Given the description of an element on the screen output the (x, y) to click on. 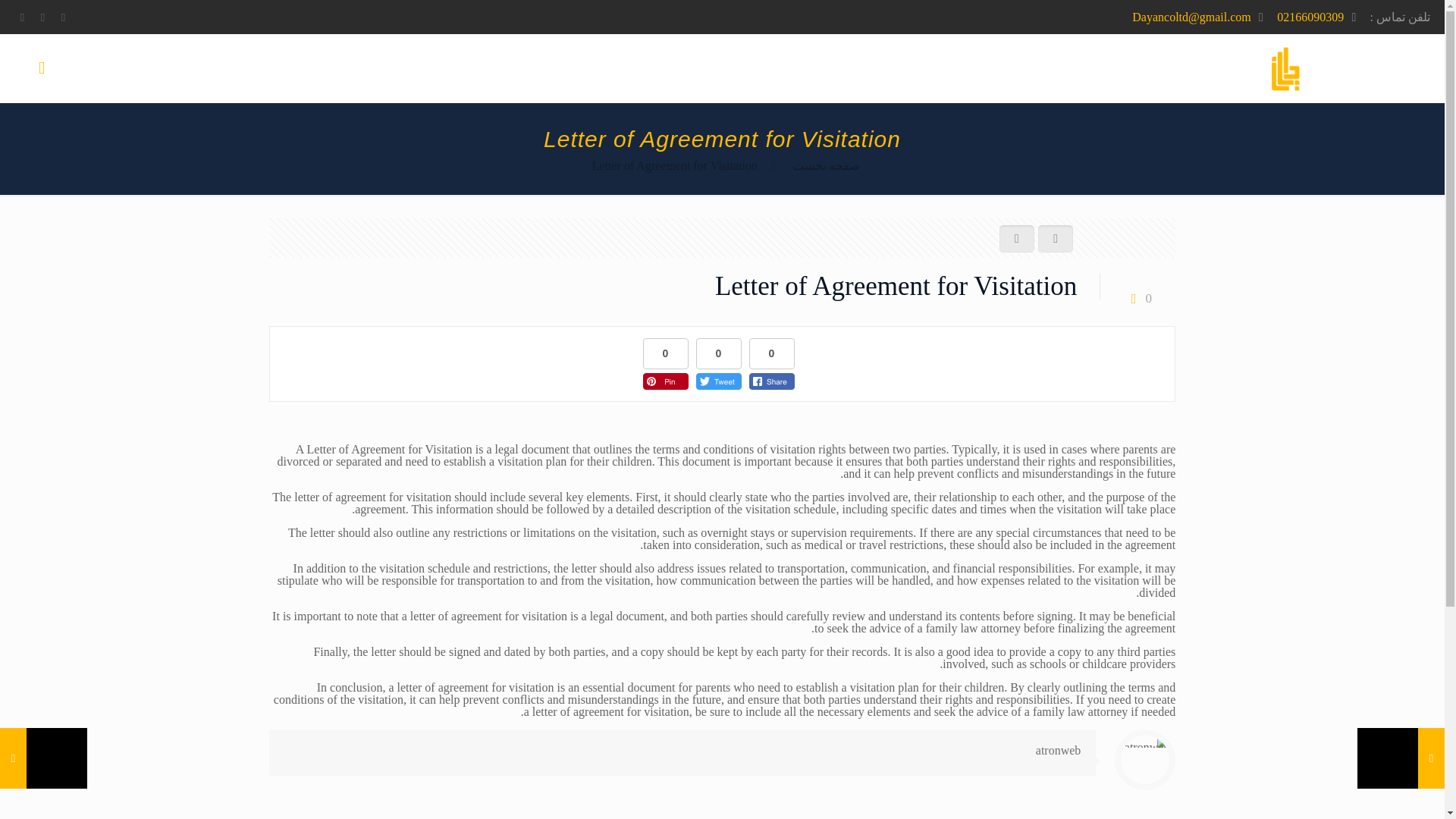
0 (1138, 297)
atronweb (1058, 749)
Twitter (42, 17)
02166090309 (1309, 16)
Instagram (22, 17)
Facebook (63, 17)
